Given the description of an element on the screen output the (x, y) to click on. 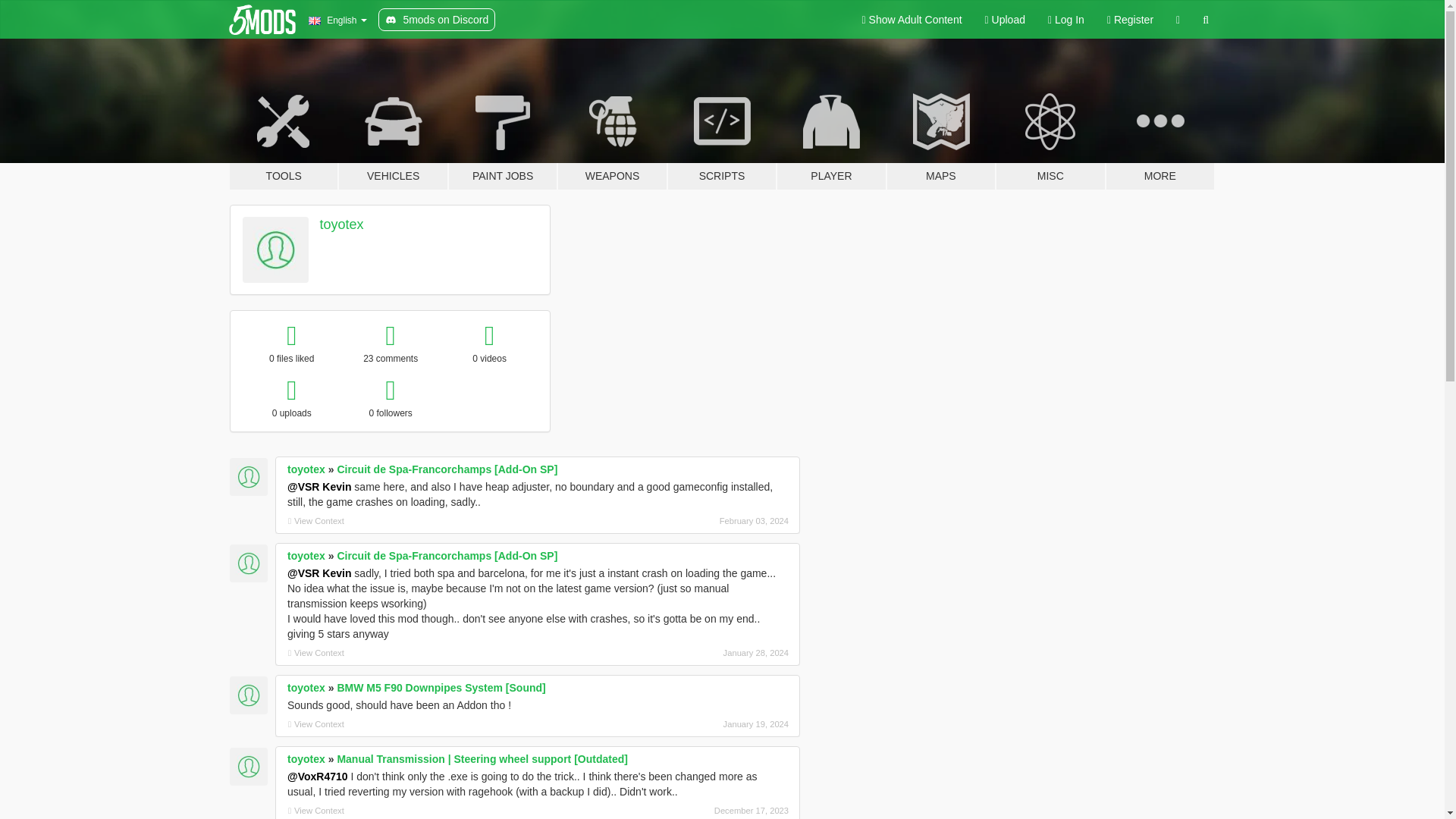
  English (337, 19)
Show Adult Content (912, 19)
Light mode (912, 19)
5mods on Discord (436, 19)
Upload (1005, 19)
Register (1130, 19)
Log In (1066, 19)
